Given the description of an element on the screen output the (x, y) to click on. 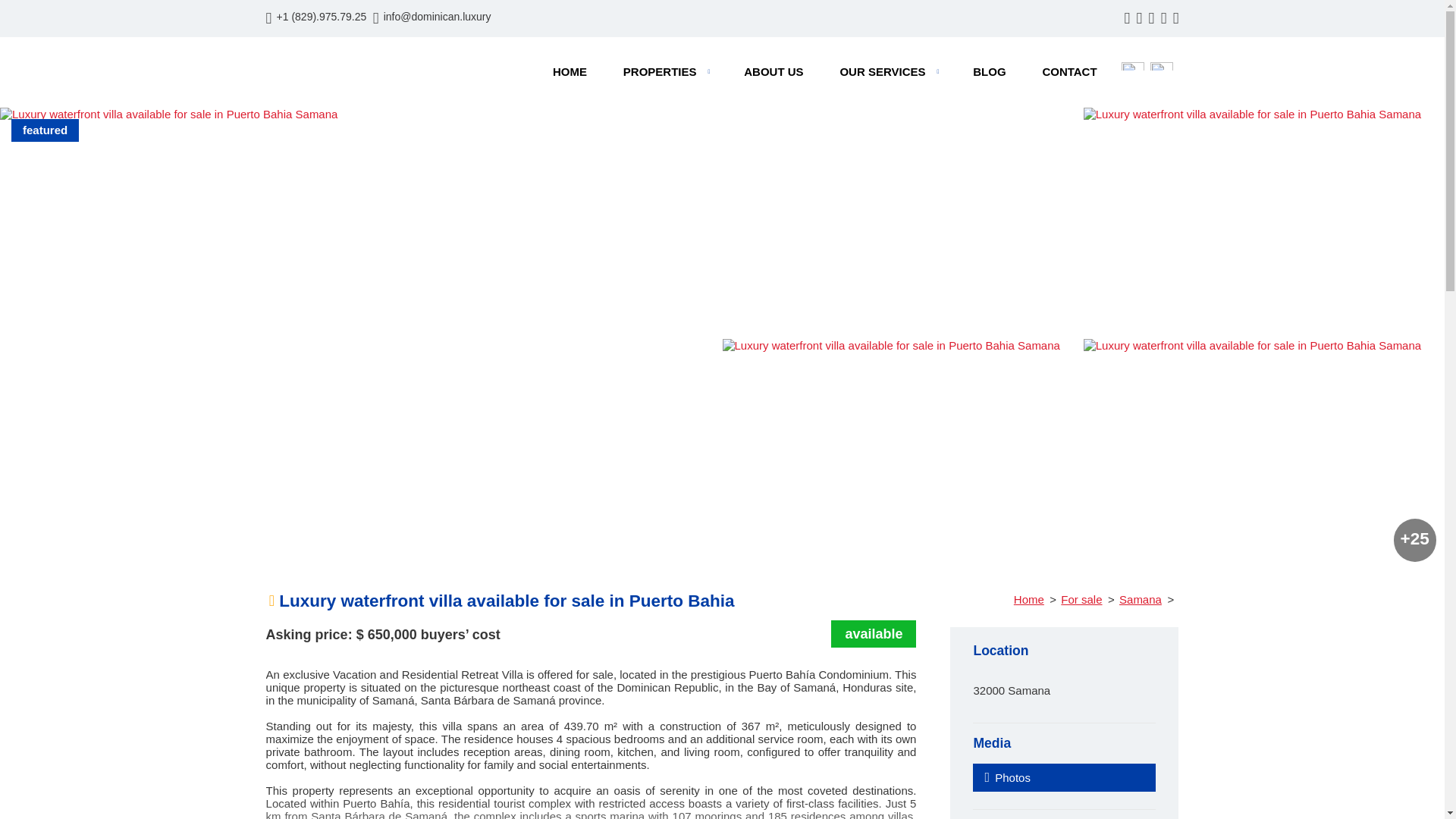
OUR SERVICES (887, 71)
Home (1028, 599)
Samana (1140, 599)
CONTACT (1069, 71)
HOME (569, 71)
PROPERTIES (665, 71)
ABOUT US (772, 71)
For sale (1081, 599)
BLOG (988, 71)
